Given the description of an element on the screen output the (x, y) to click on. 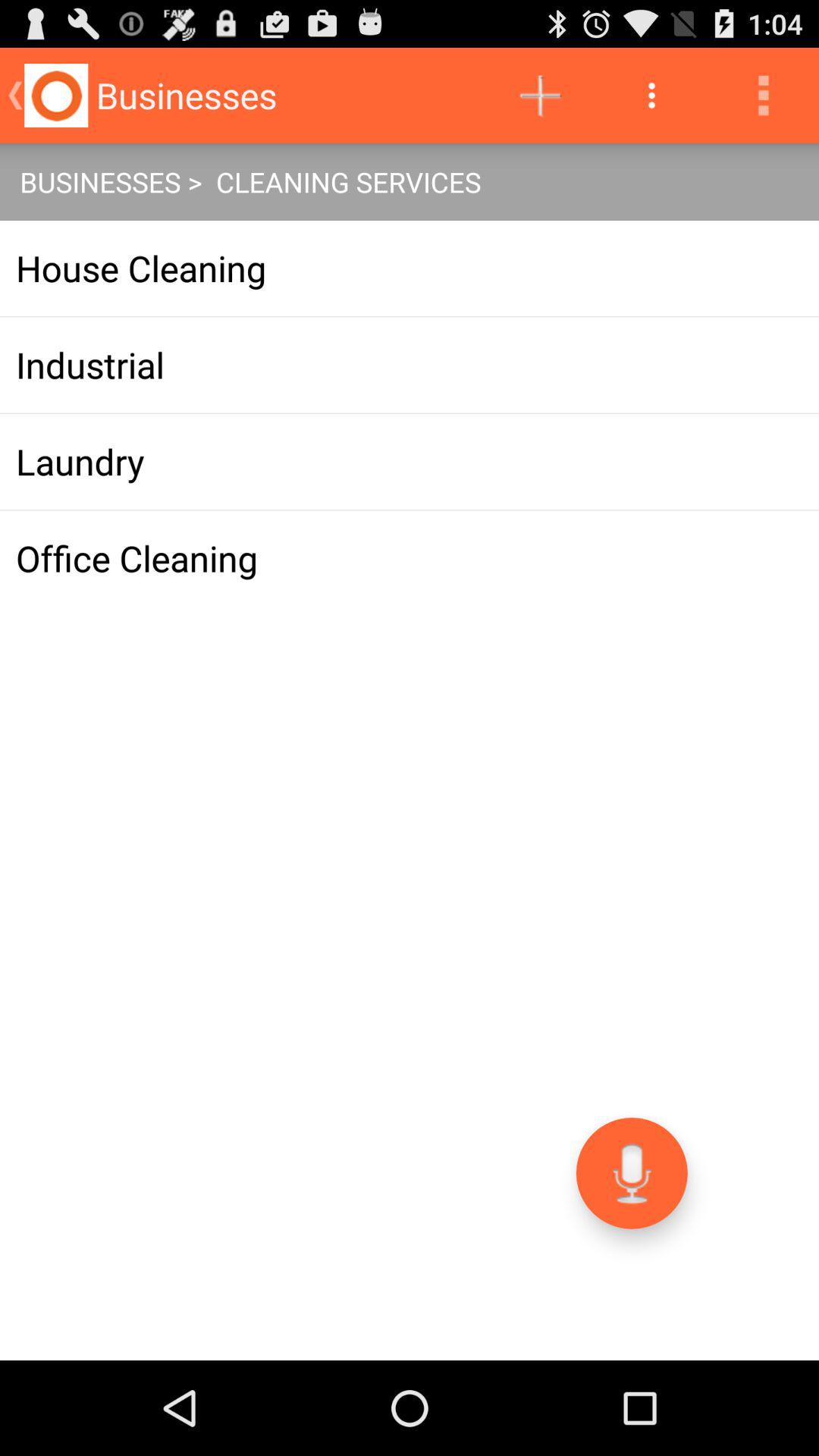
turn on icon above businesses >  cleaning services icon (540, 95)
